Given the description of an element on the screen output the (x, y) to click on. 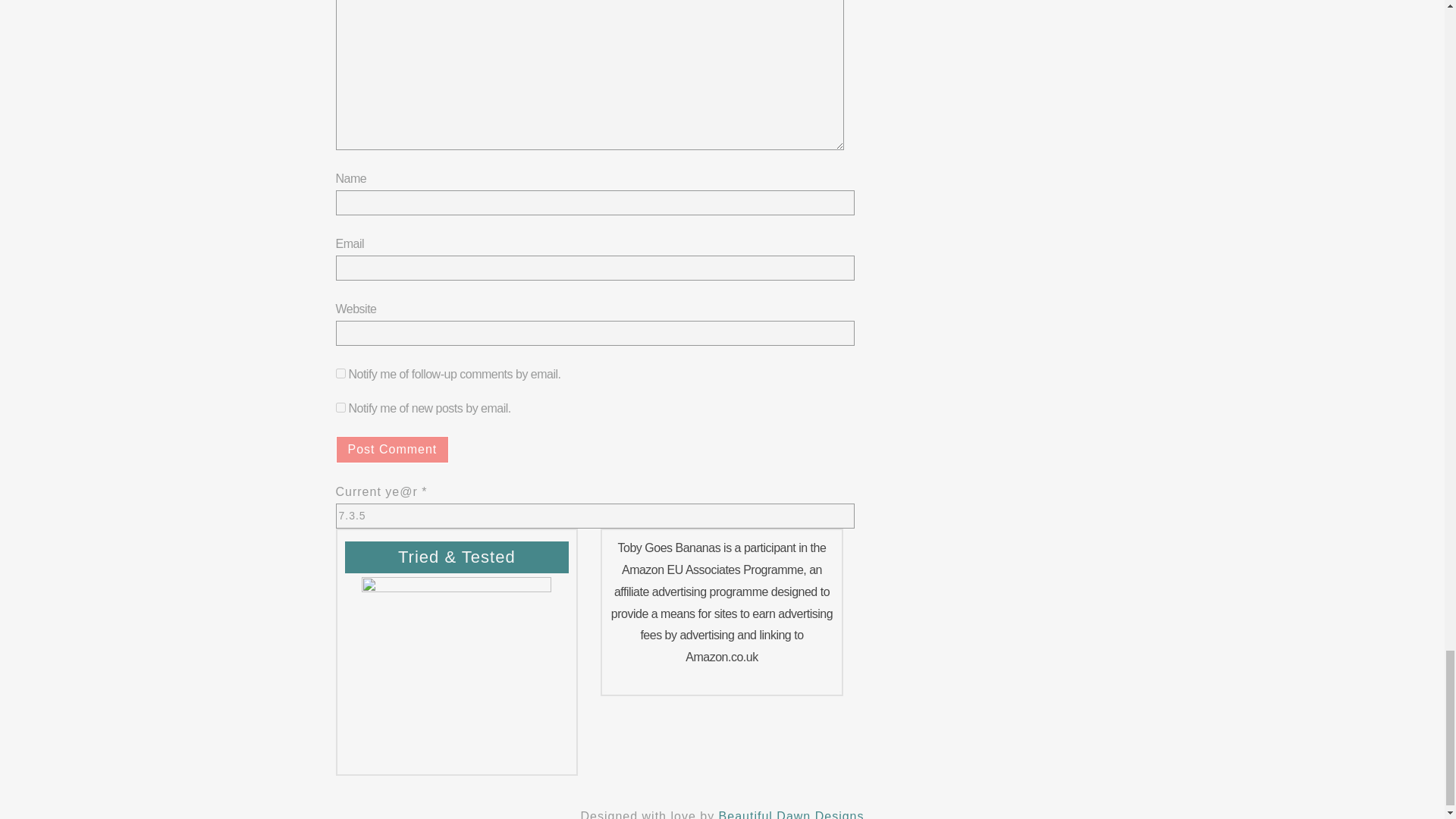
7.3.5 (593, 515)
Post Comment (391, 448)
subscribe (339, 373)
subscribe (339, 407)
